Given the description of an element on the screen output the (x, y) to click on. 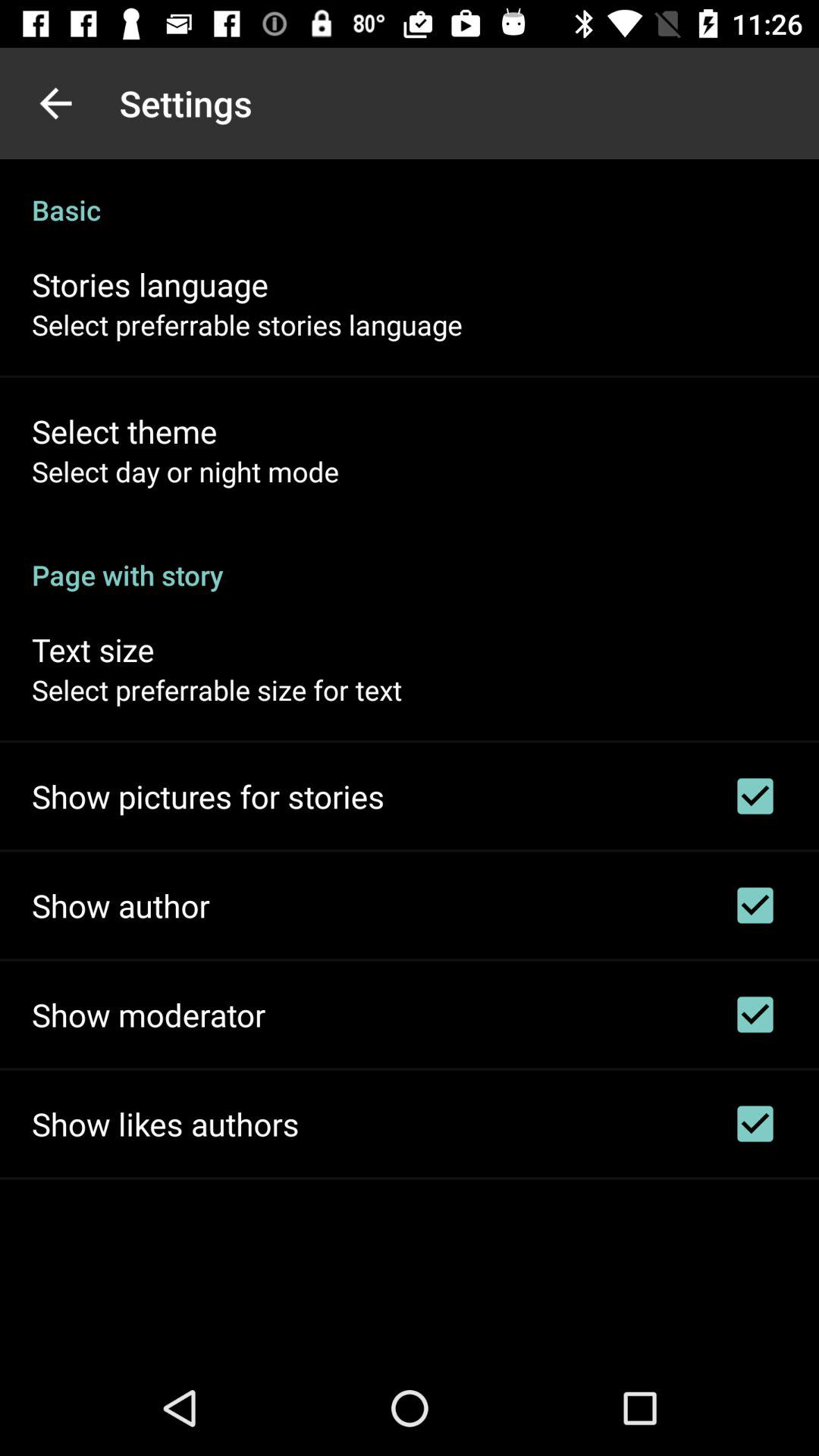
press the select day or icon (184, 471)
